Given the description of an element on the screen output the (x, y) to click on. 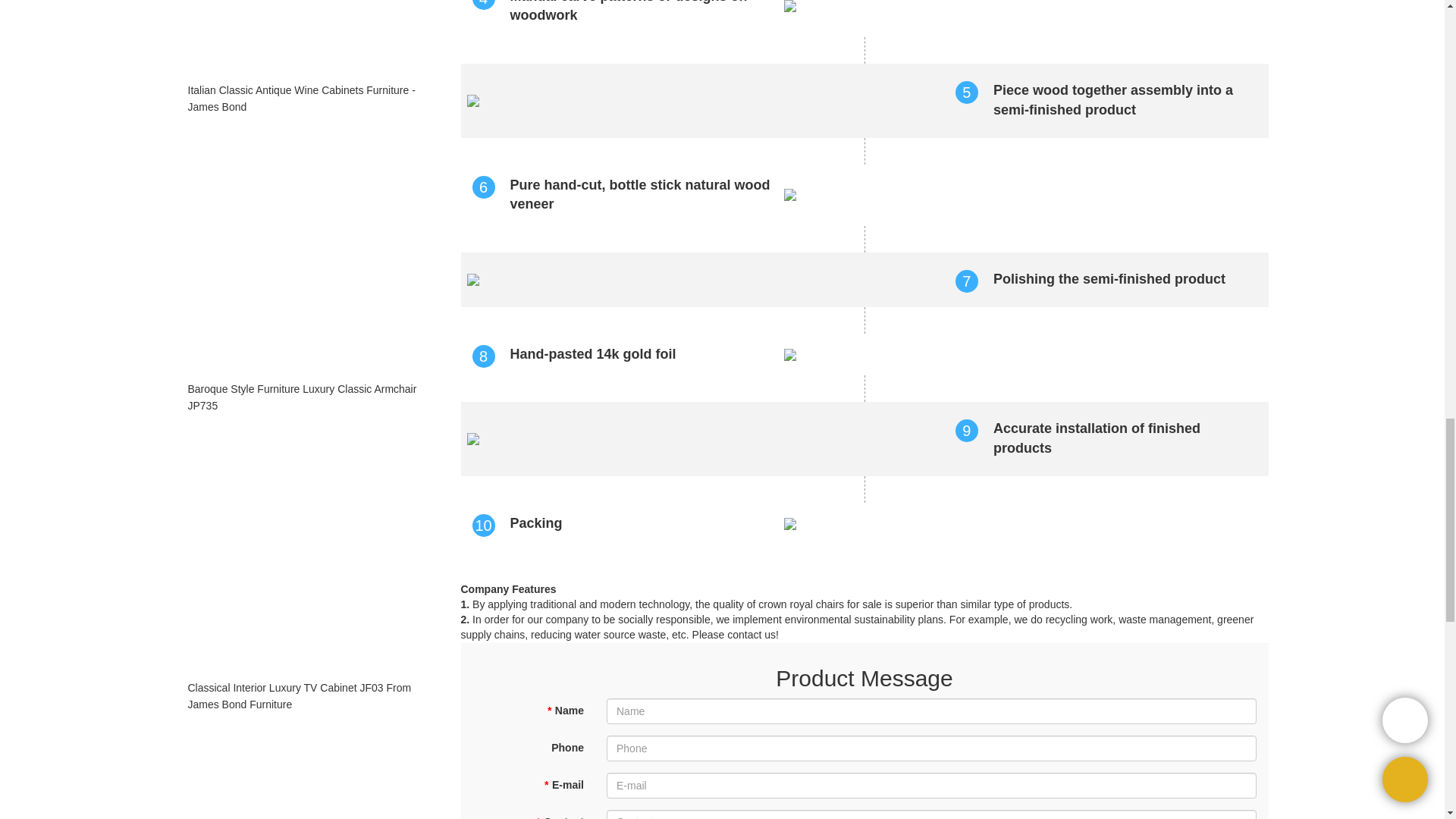
Baroque Style Furniture Luxury Classic Armchair JP735 (306, 397)
Italian Classic Antique Wine Cabinets Furniture - James Bond (306, 98)
